Given the description of an element on the screen output the (x, y) to click on. 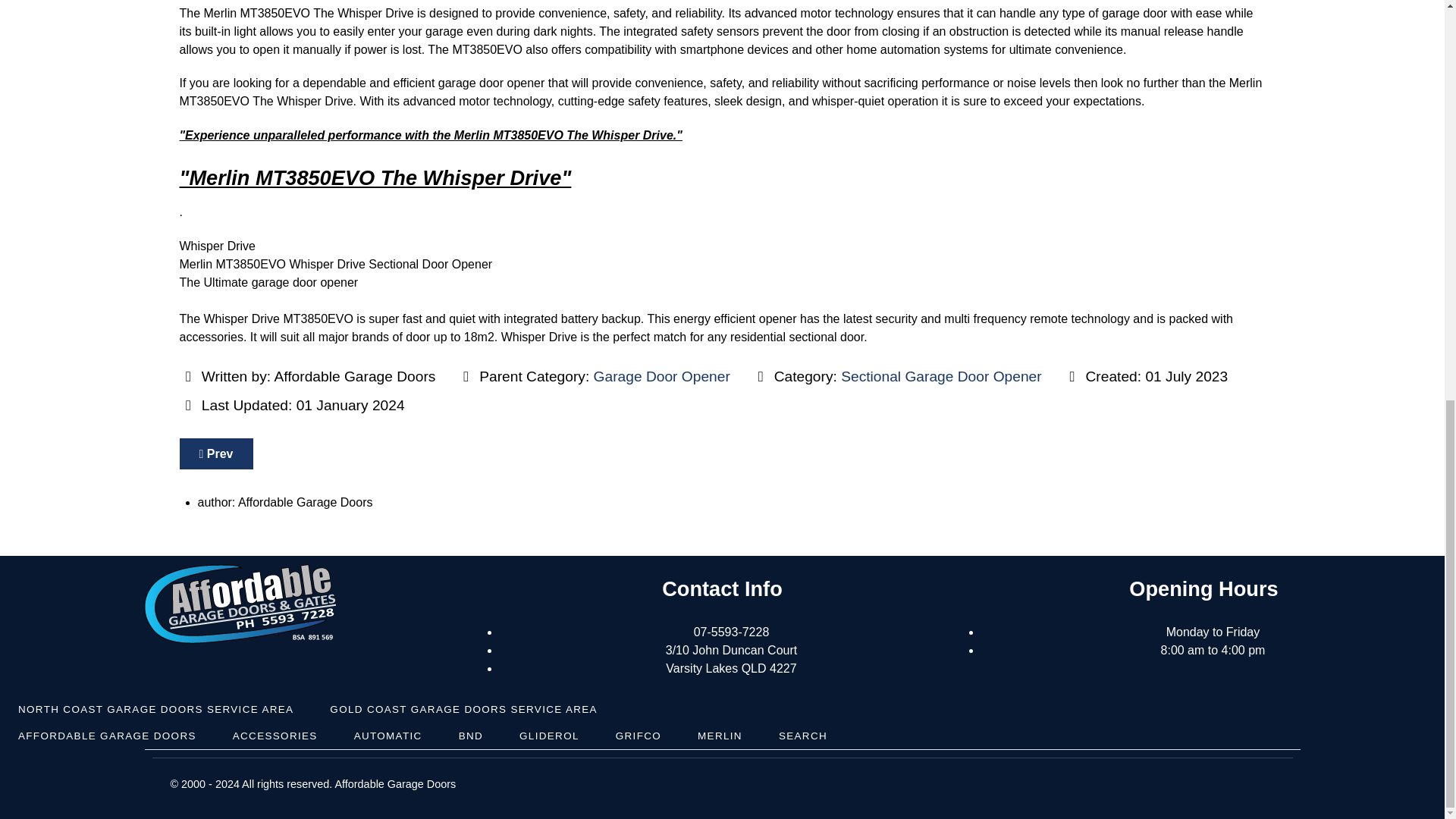
Search (802, 735)
Affordable Garage Doors (107, 735)
Gold Coast Garage Doors Service Area (463, 709)
